Given the description of an element on the screen output the (x, y) to click on. 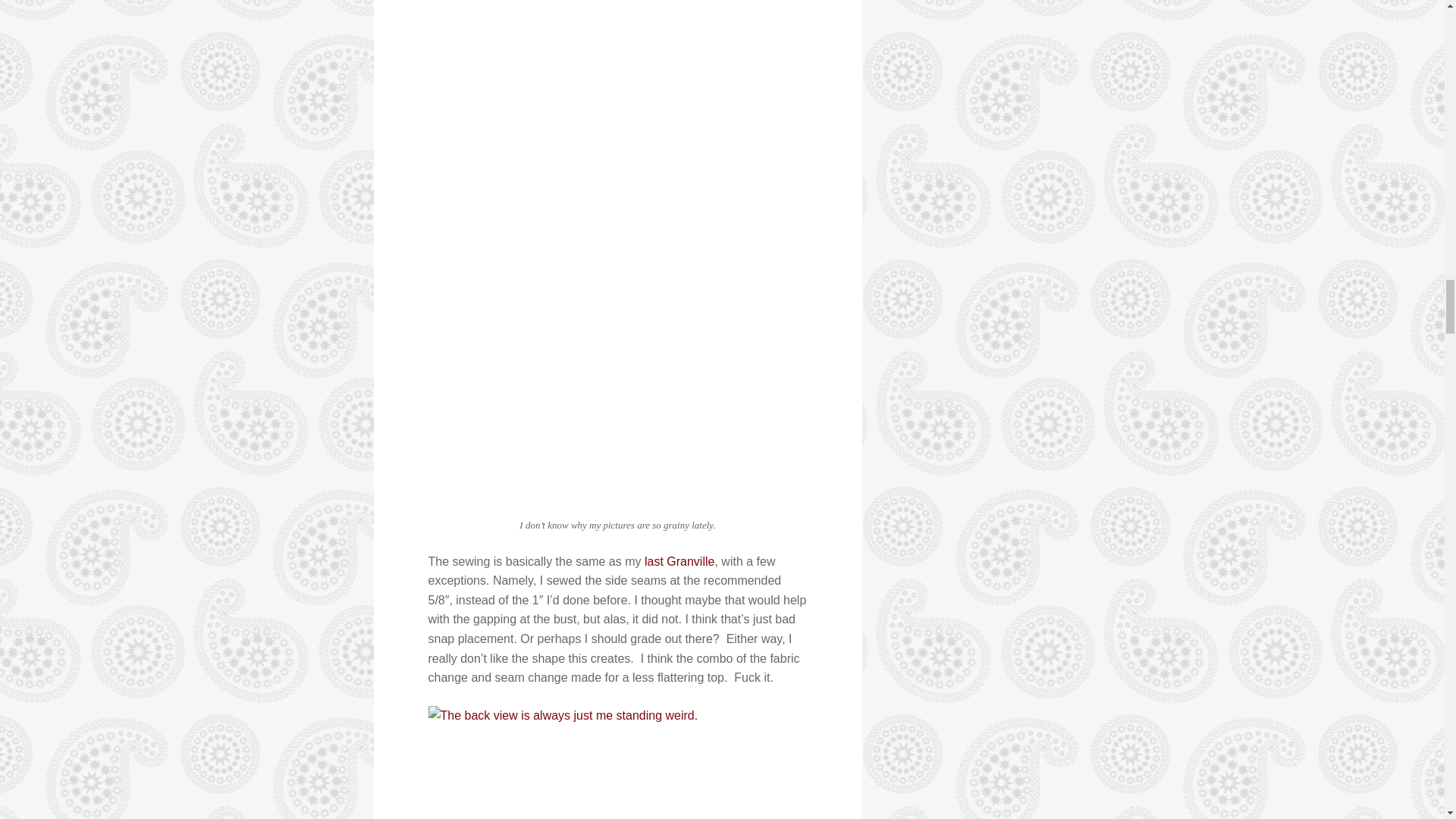
last Granville (679, 561)
